Given the description of an element on the screen output the (x, y) to click on. 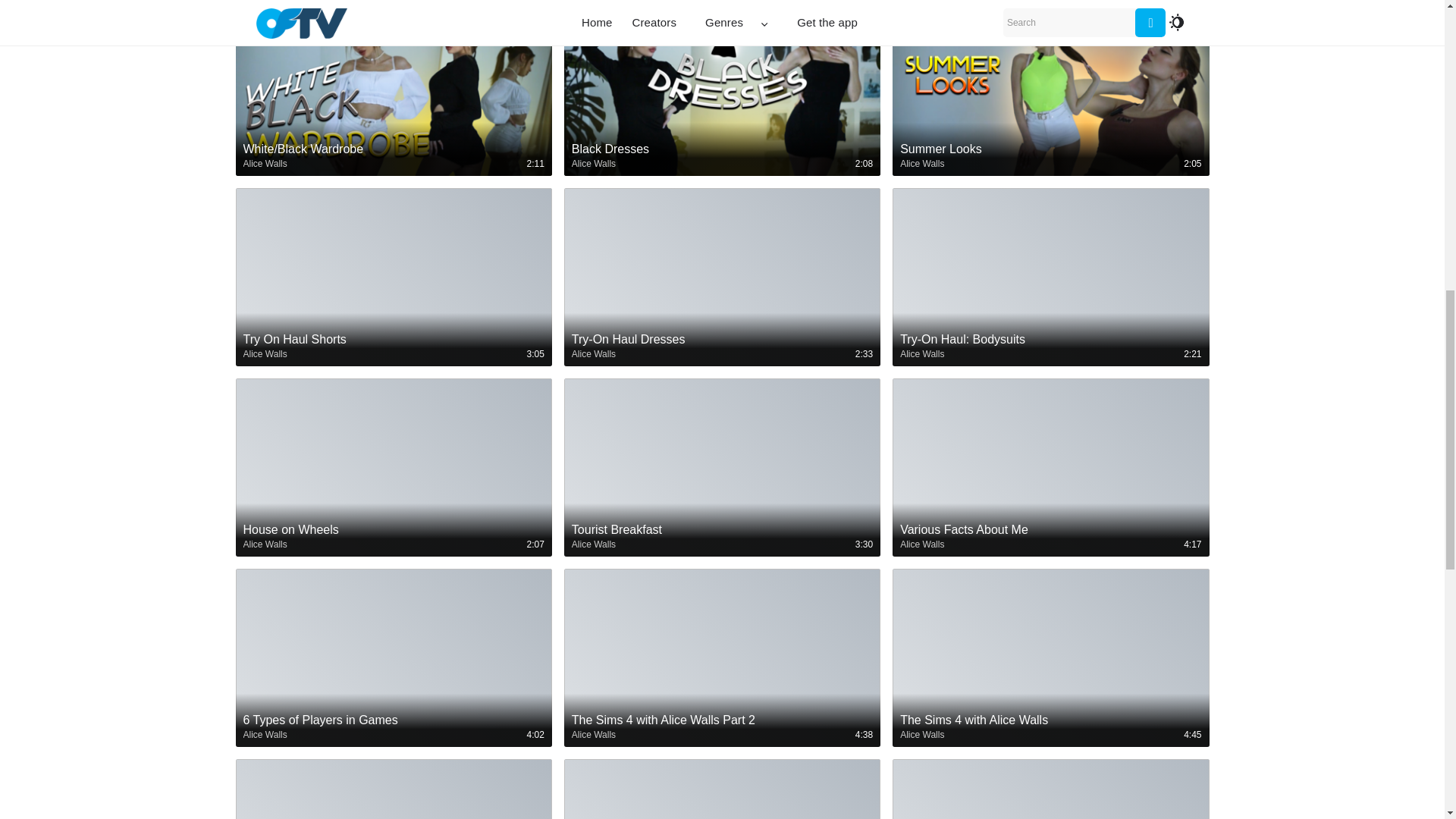
Try-On Haul Dresses (722, 339)
Alice Walls (264, 354)
Try On Haul Shorts (393, 347)
Alice Walls (921, 163)
Summer Looks (1050, 156)
Black Dresses (722, 149)
Alice Walls (593, 163)
Black Dresses (722, 156)
Try-On Haul Dresses (722, 347)
Summer Looks (1050, 149)
